Given the description of an element on the screen output the (x, y) to click on. 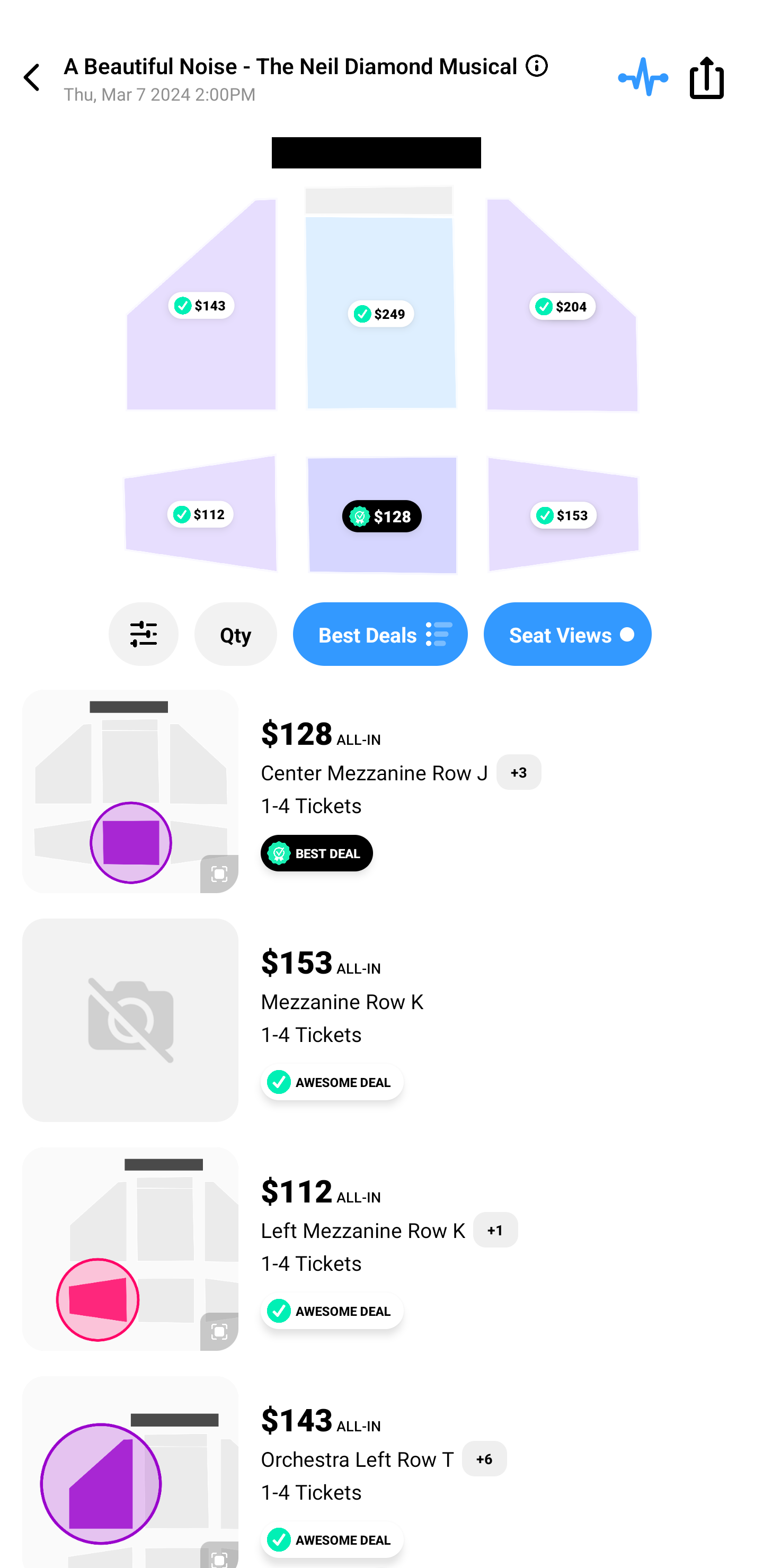
$249 (380, 313)
Qty (235, 634)
Best Deals (379, 634)
Seat Views (567, 634)
+3 (518, 772)
BEST DEAL (316, 852)
AWESOME DEAL (331, 1081)
+1 (495, 1230)
AWESOME DEAL (331, 1310)
+6 (484, 1458)
AWESOME DEAL (331, 1539)
